Given the description of an element on the screen output the (x, y) to click on. 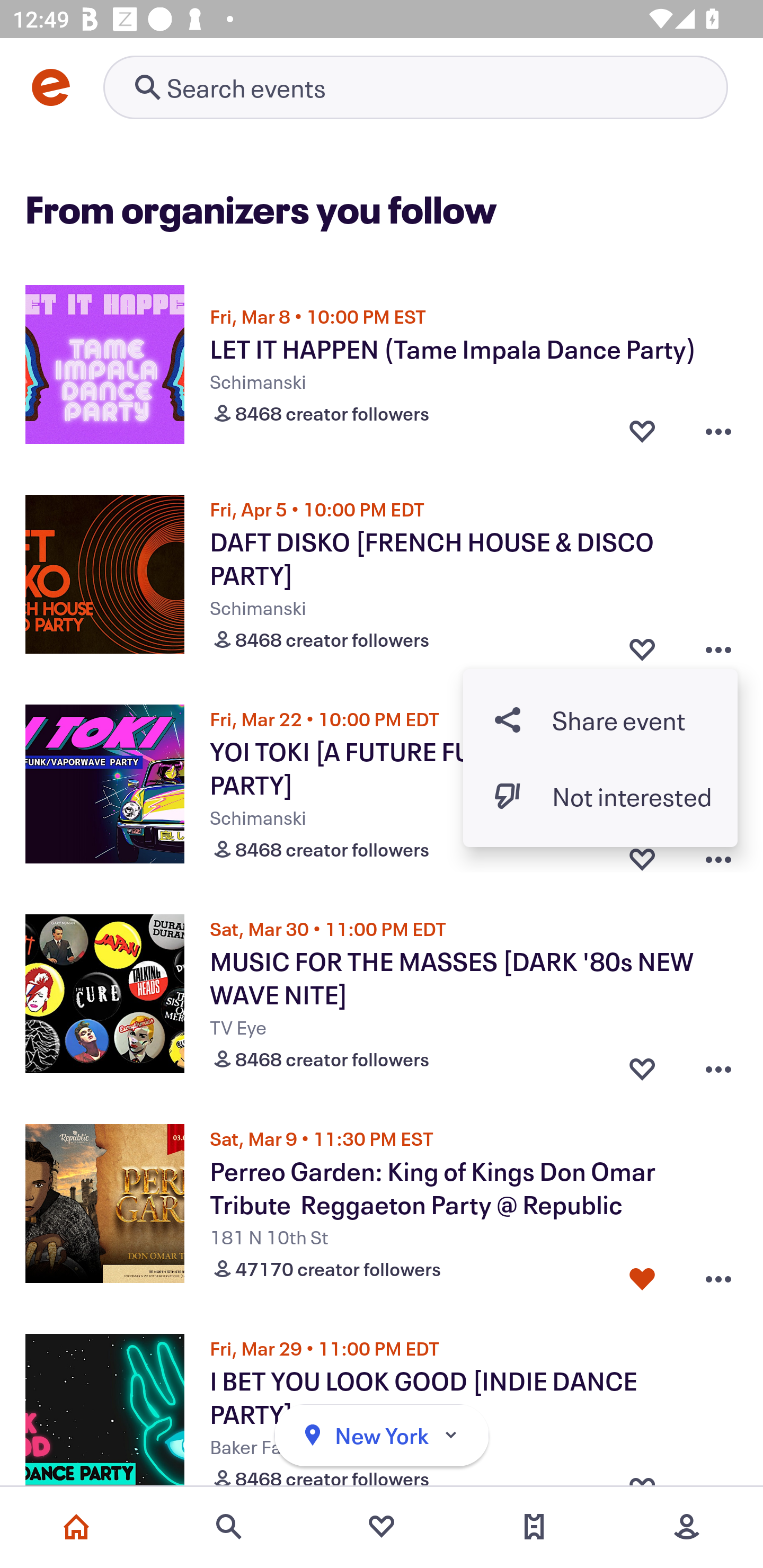
Share button Share event (600, 719)
Dislike event button Not interested (600, 795)
